Given the description of an element on the screen output the (x, y) to click on. 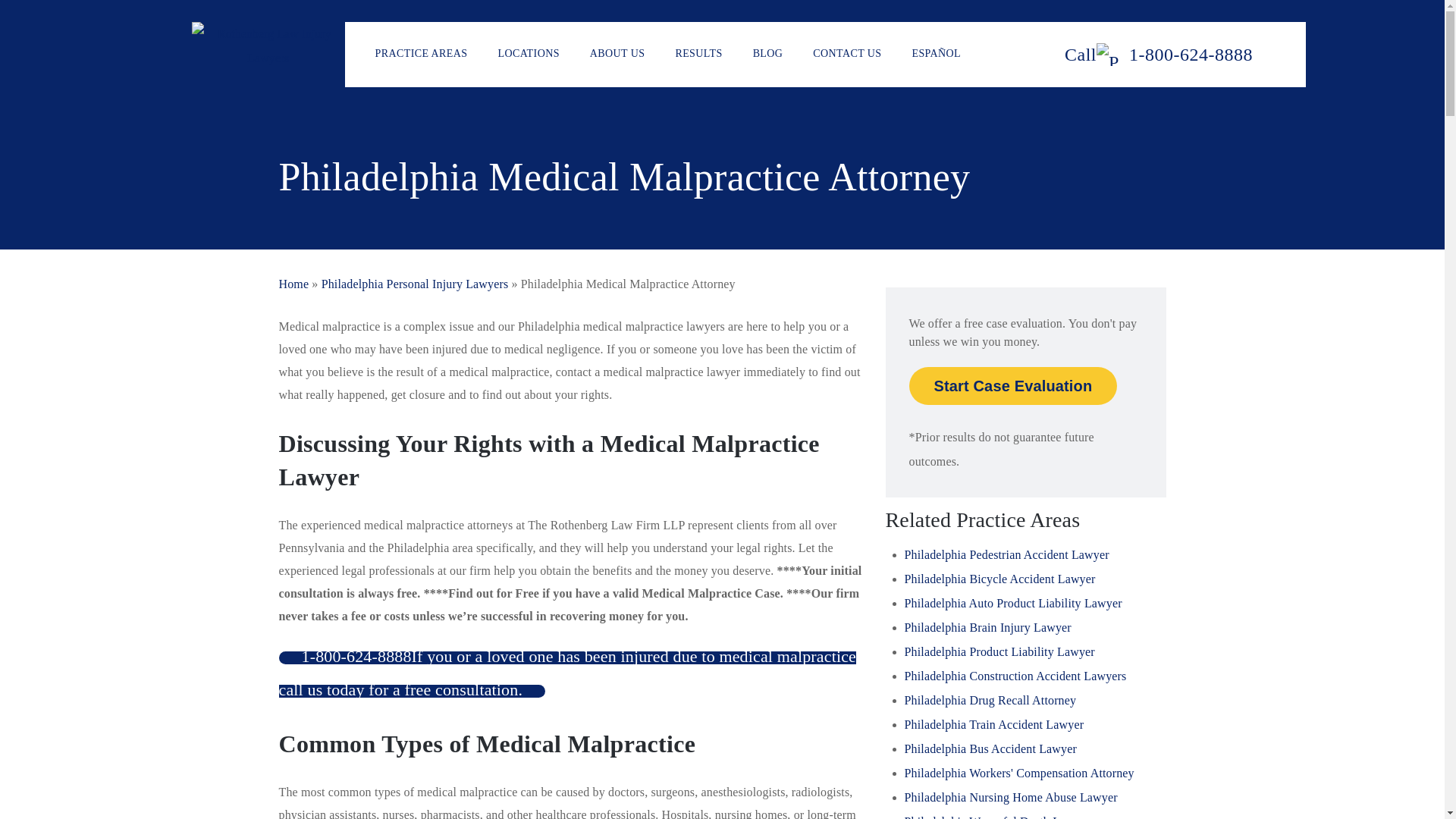
LOCATIONS (528, 54)
Home (293, 283)
PRACTICE AREAS (421, 54)
InjuryLawyer Logo (268, 46)
CONTACT US (846, 54)
Phone icon (1158, 54)
